Given the description of an element on the screen output the (x, y) to click on. 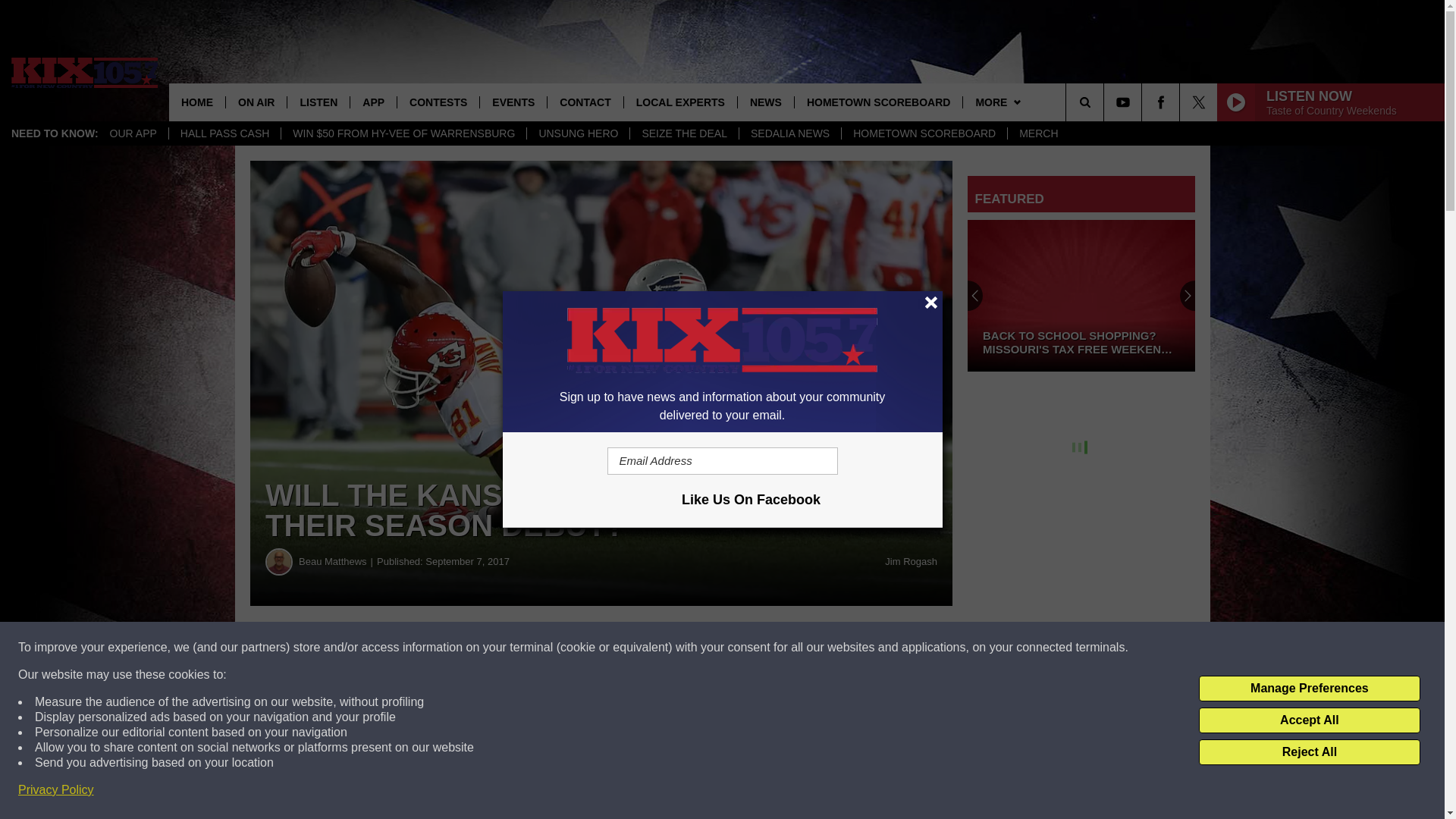
ON AIR (255, 102)
LISTEN (317, 102)
HALL PASS CASH (224, 133)
Share on Twitter (741, 647)
SEARCH (1106, 102)
SEIZE THE DEAL (683, 133)
MERCH (1037, 133)
UNSUNG HERO (576, 133)
HOME (196, 102)
Share on Facebook (460, 647)
APP (372, 102)
Email Address (722, 461)
Reject All (1309, 751)
Accept All (1309, 720)
HOMETOWN SCOREBOARD (924, 133)
